Given the description of an element on the screen output the (x, y) to click on. 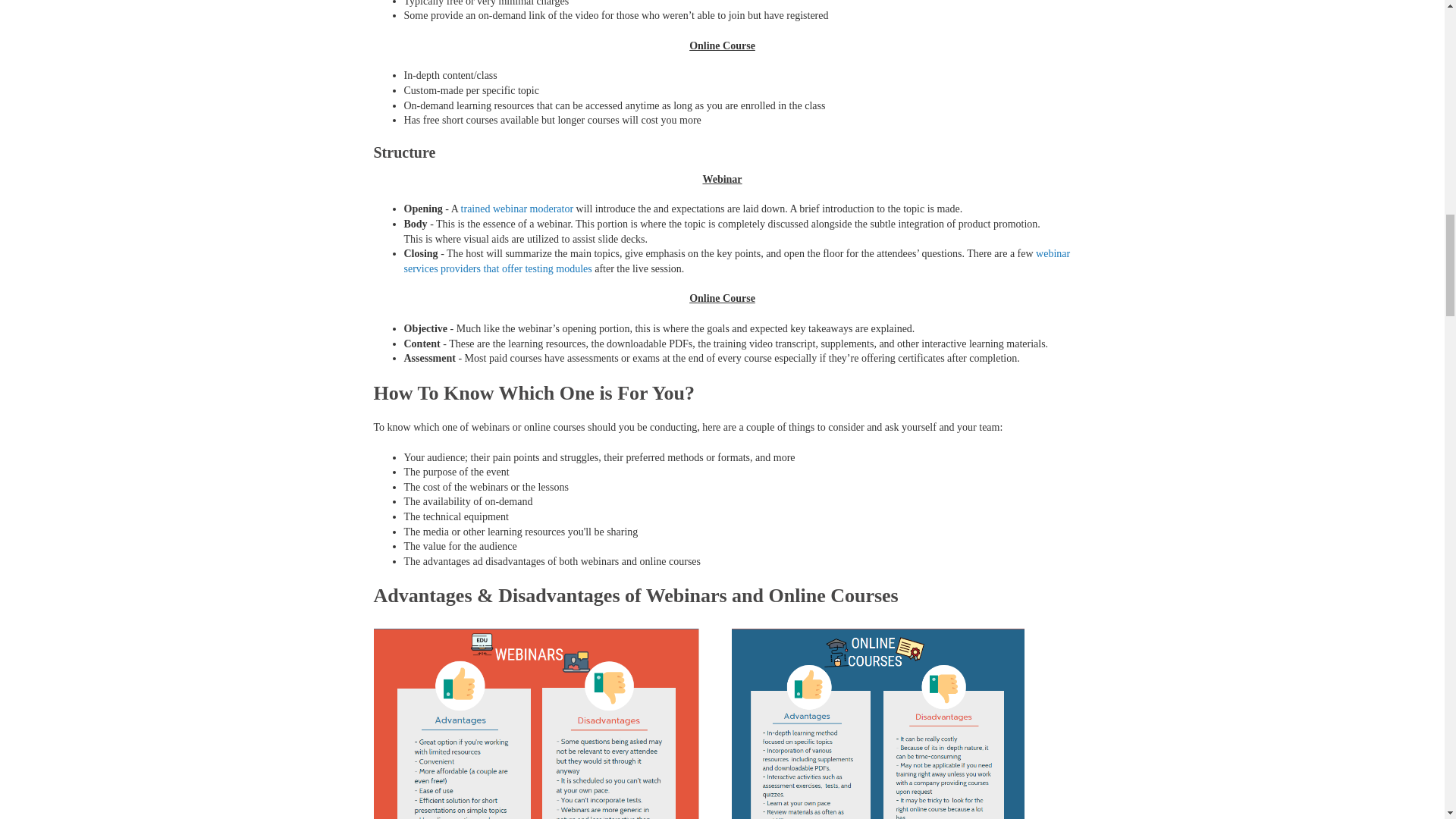
trained webinar moderator (517, 208)
webinar services providers that offer testing modules (736, 261)
